Given the description of an element on the screen output the (x, y) to click on. 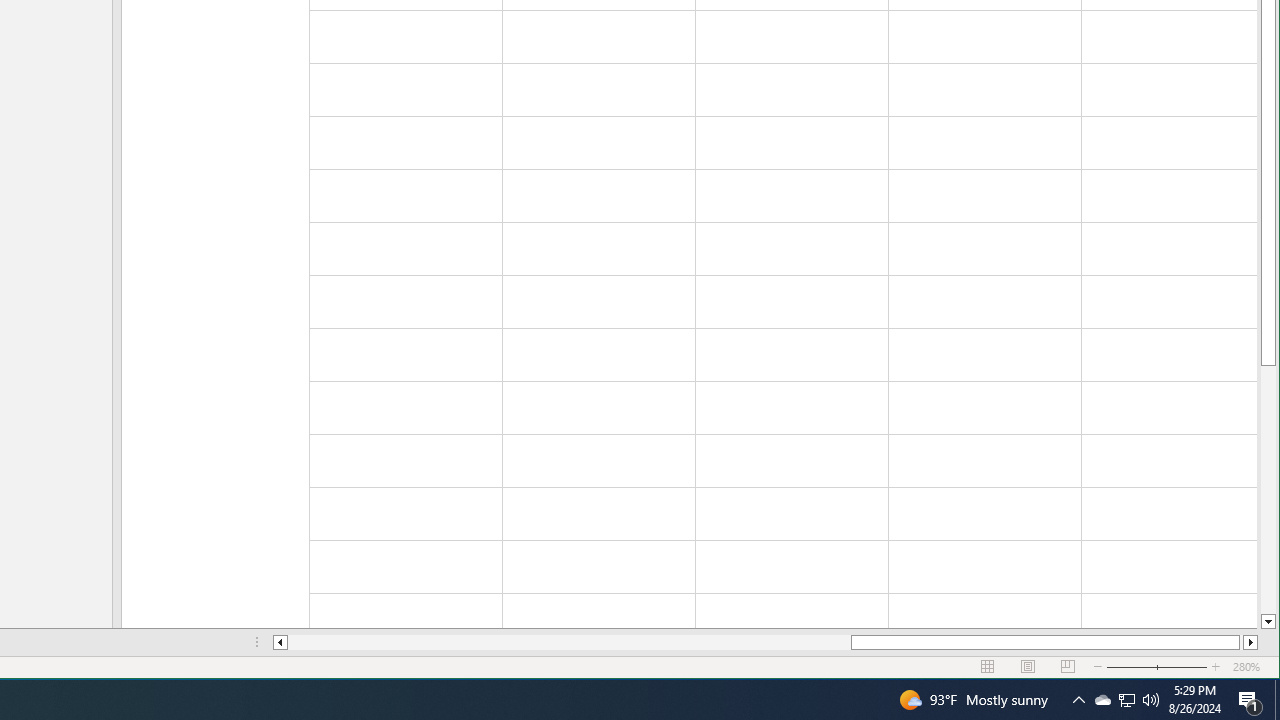
Page Break Preview (1068, 667)
Zoom Out (1144, 667)
Page left (569, 642)
Zoom In (1215, 667)
Line down (1268, 622)
Column right (1126, 699)
Column left (1250, 642)
Action Center, 1 new notification (1102, 699)
Class: NetUIScrollBar (279, 642)
User Promoted Notification Area (1250, 699)
